Given the description of an element on the screen output the (x, y) to click on. 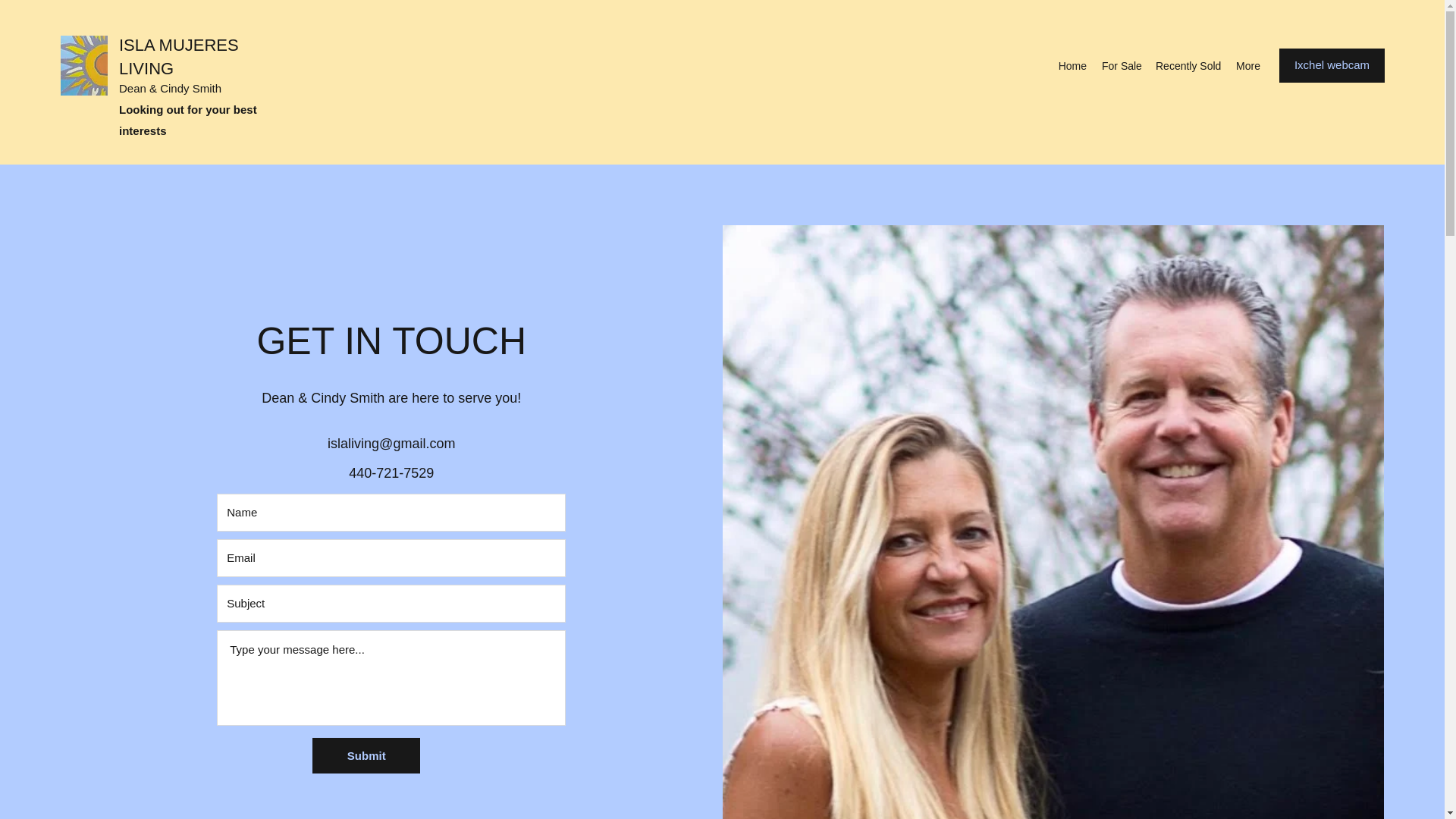
Home (1071, 65)
Ixchel webcam (1331, 65)
Recently Sold (1187, 65)
Submit (366, 755)
For Sale (1121, 65)
ISLA MUJERES LIVING (178, 56)
